Given the description of an element on the screen output the (x, y) to click on. 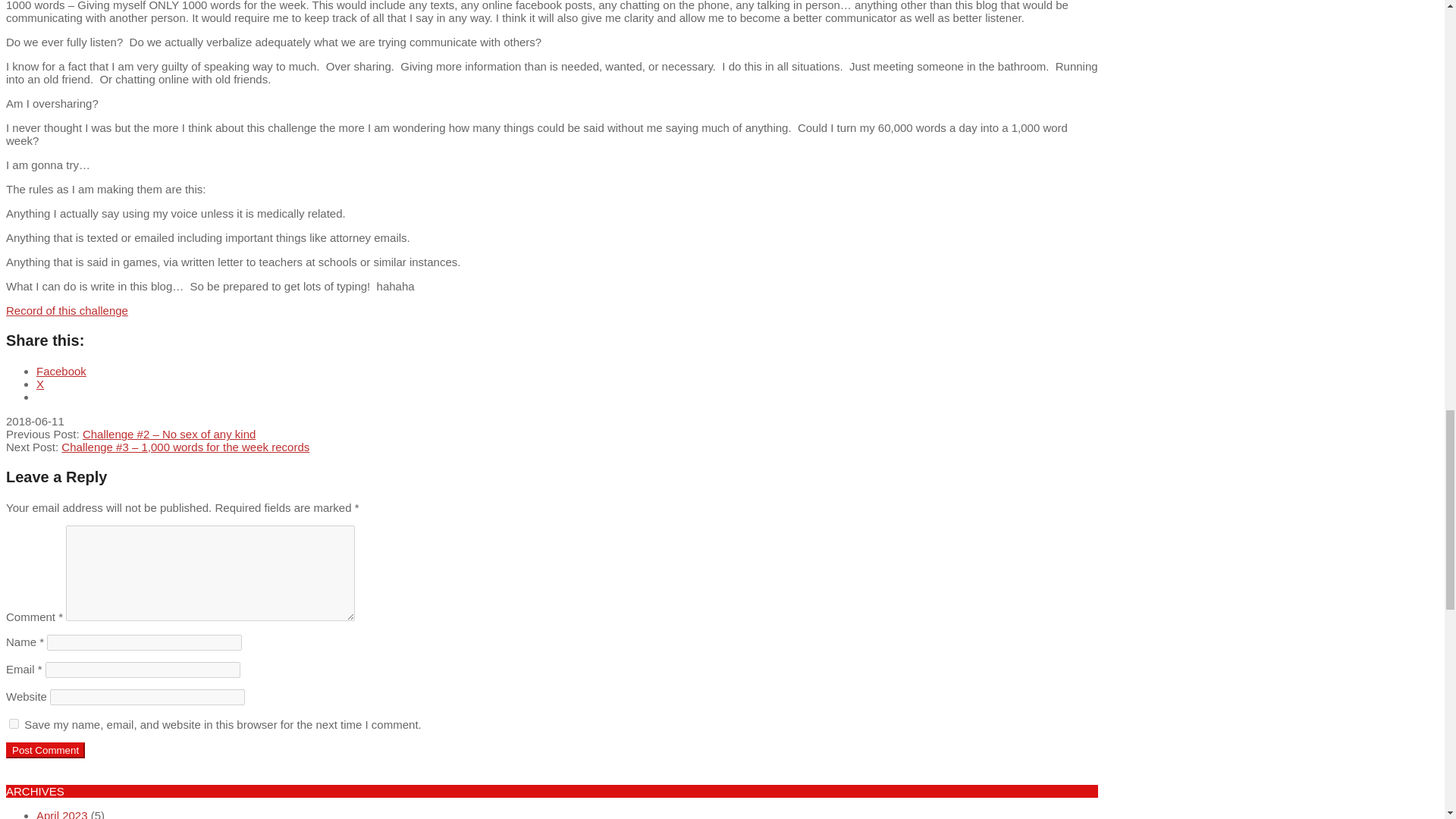
Post Comment (44, 750)
yes (13, 723)
Click to share on X (39, 383)
Click to share on Facebook (60, 370)
